Given the description of an element on the screen output the (x, y) to click on. 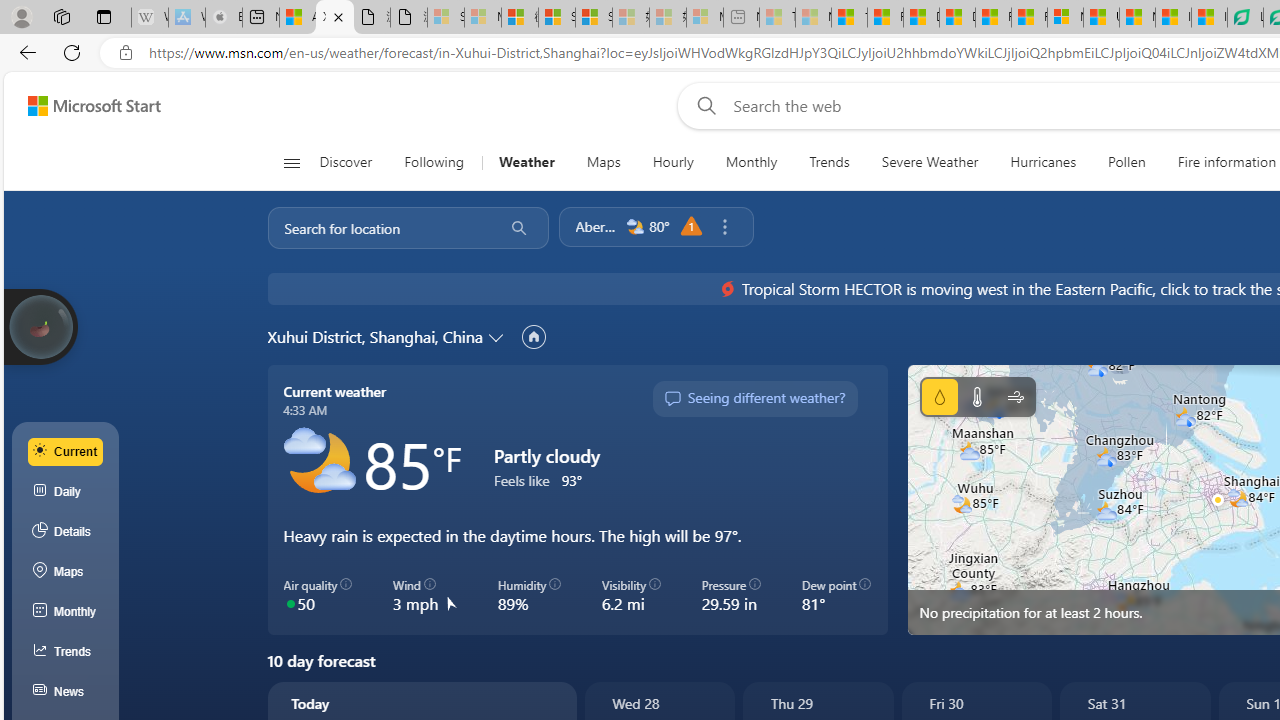
News (65, 692)
Monthly (751, 162)
Join us in planting real trees to help our planet! (40, 325)
Xuhui District, Shanghai, China (374, 336)
Maps (65, 572)
Current (65, 451)
Severe Weather (929, 162)
Temperature (976, 396)
Fire information (1227, 162)
Trends (828, 162)
